Given the description of an element on the screen output the (x, y) to click on. 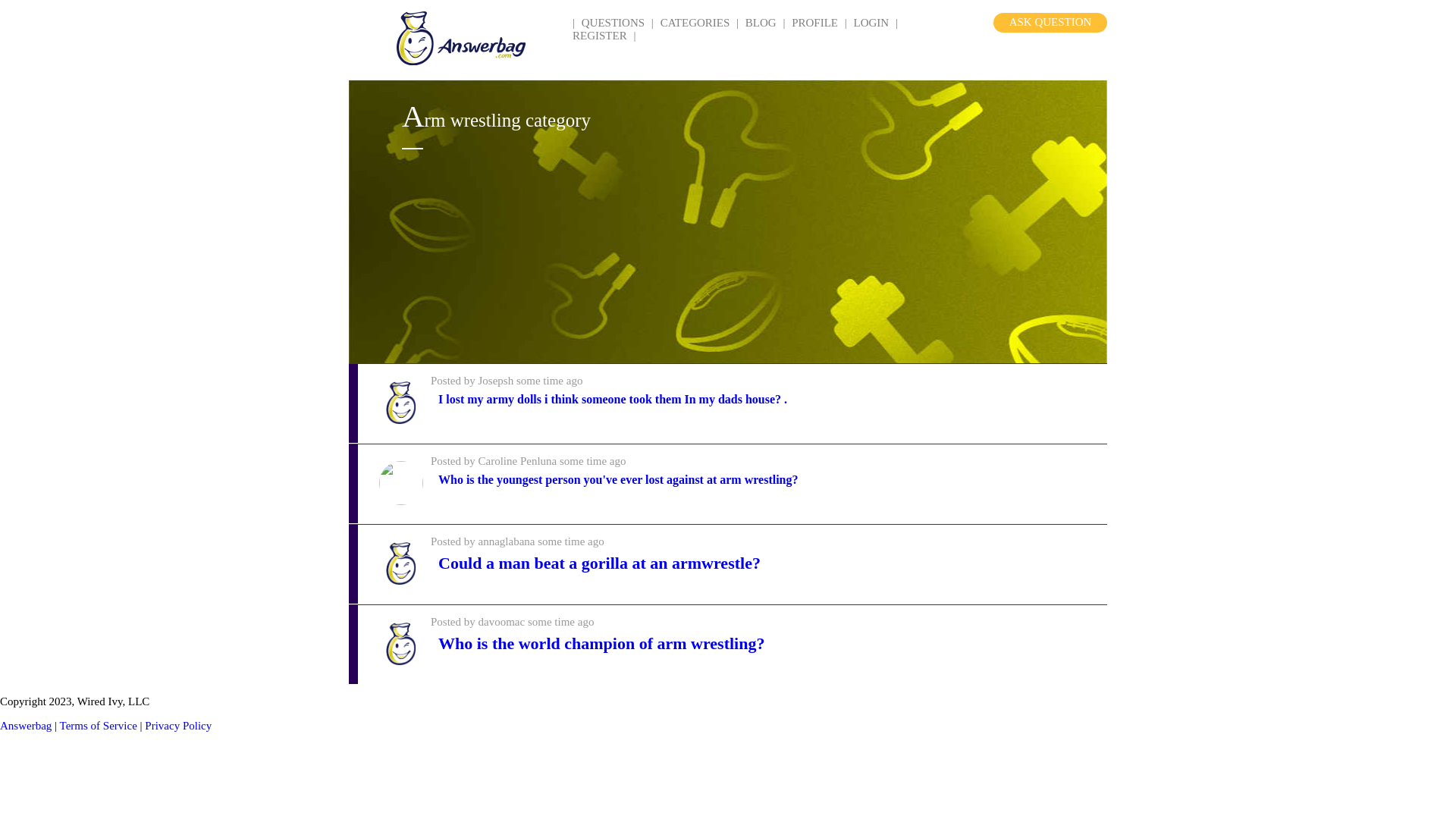
Who is the world champion of arm wrestling? (601, 642)
ASK QUESTION (1049, 22)
QUESTIONS (612, 22)
Privacy Policy (177, 725)
Terms of Service (97, 725)
REGISTER (599, 35)
CATEGORIES (695, 22)
PROFILE (815, 22)
BLOG (760, 22)
LOGIN (871, 22)
Answerbag (25, 725)
Could a man beat a gorilla at an armwrestle? (599, 562)
